Given the description of an element on the screen output the (x, y) to click on. 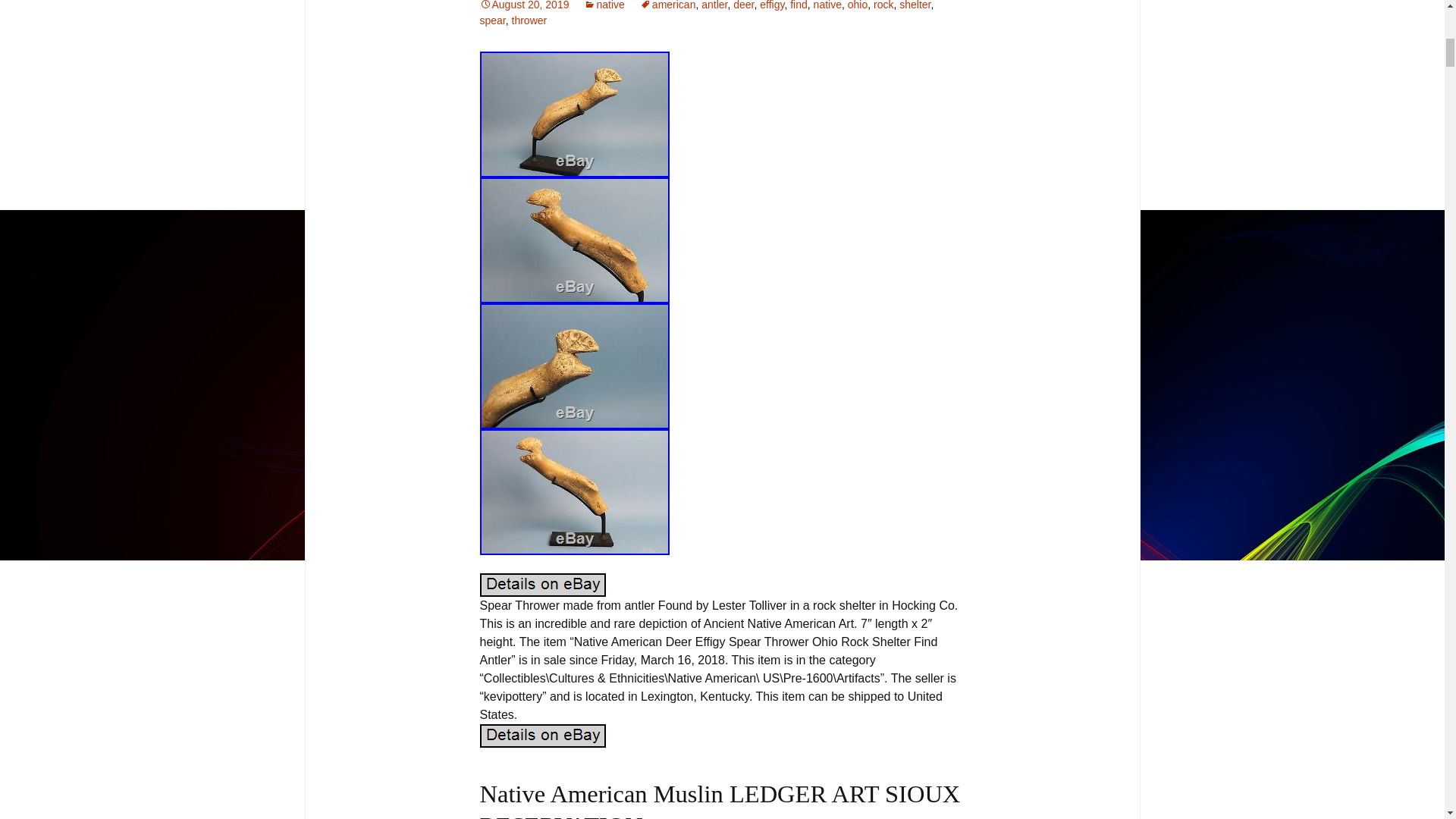
find (799, 5)
Native American Muslin LEDGER ART SIOUX RESERVATION (719, 799)
native (827, 5)
rock (883, 5)
shelter (914, 5)
thrower (529, 20)
american (667, 5)
